Given the description of an element on the screen output the (x, y) to click on. 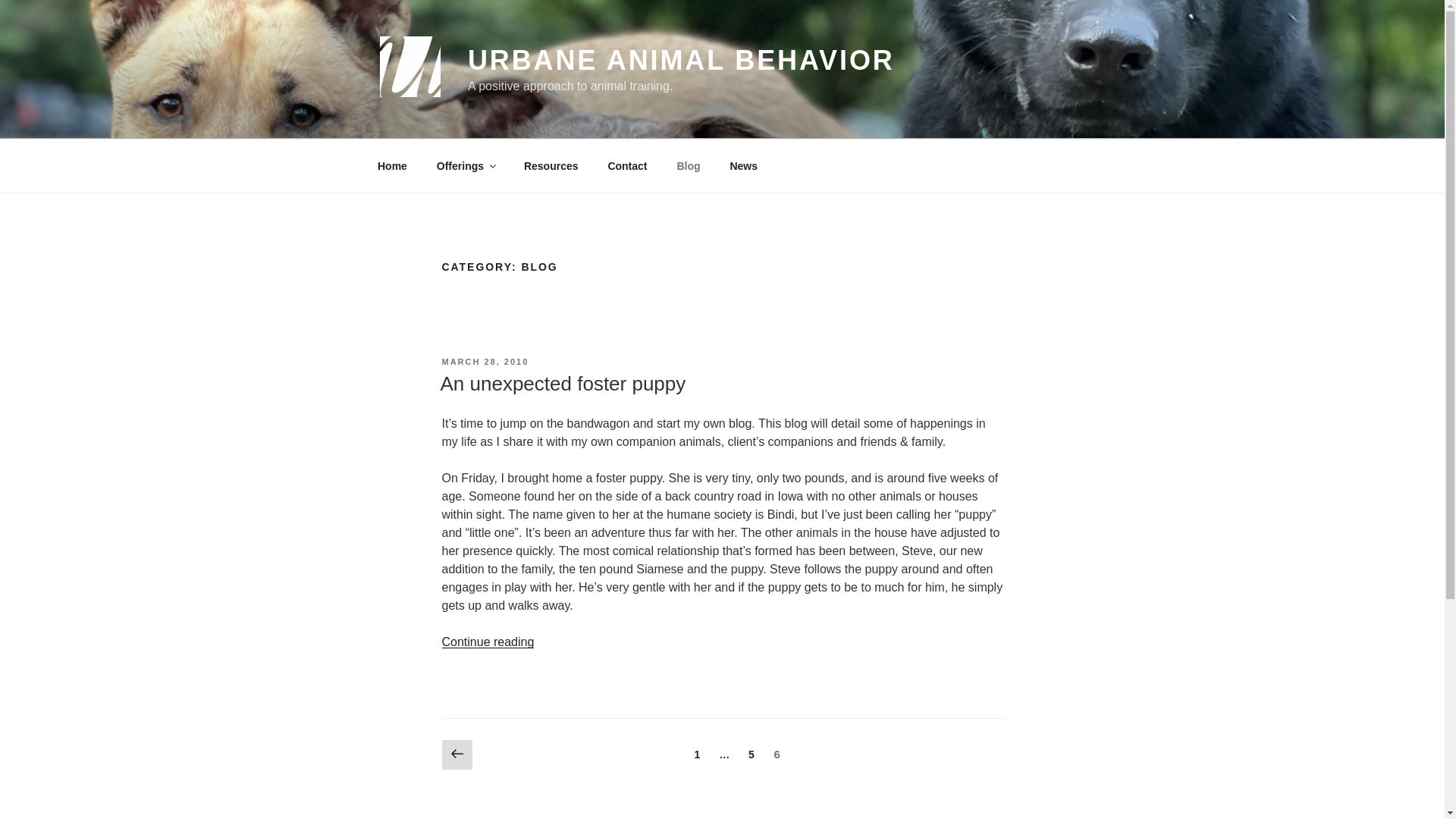
Skip to content (696, 755)
Contact (464, 165)
URBANE ANIMAL BEHAVIOR (627, 165)
An unexpected foster puppy (681, 60)
Home (562, 383)
MARCH 28, 2010 (392, 165)
Blog (484, 361)
Previous page (688, 165)
Resources (751, 755)
News (456, 755)
